Given the description of an element on the screen output the (x, y) to click on. 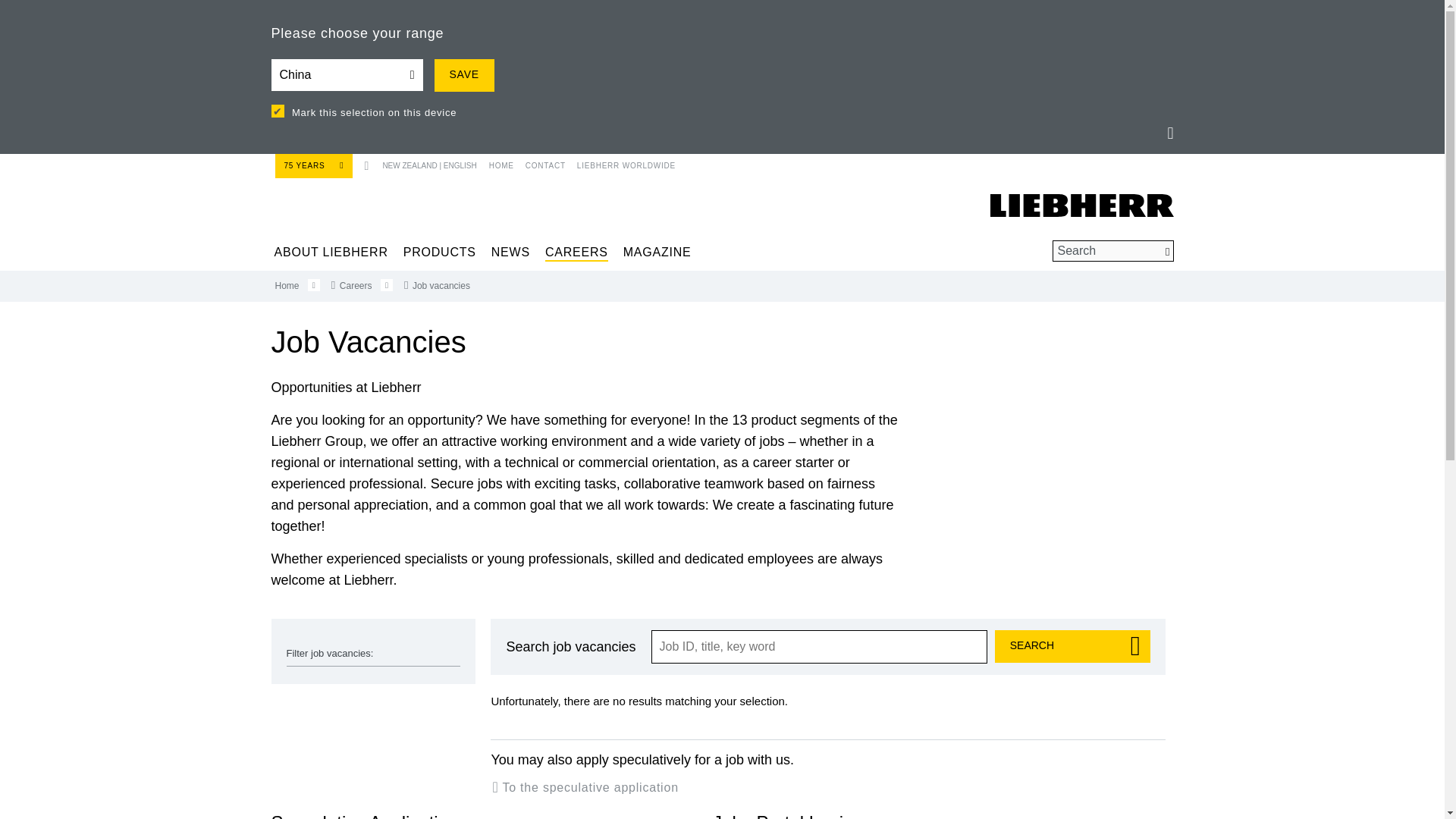
HOME (498, 162)
About Liebherr (331, 251)
LIEBHERR WORLDWIDE (620, 162)
ABOUT LIEBHERR (331, 251)
on (276, 110)
China (346, 74)
CONTACT (539, 162)
SAVE (463, 74)
75 YEARS (313, 165)
